Given the description of an element on the screen output the (x, y) to click on. 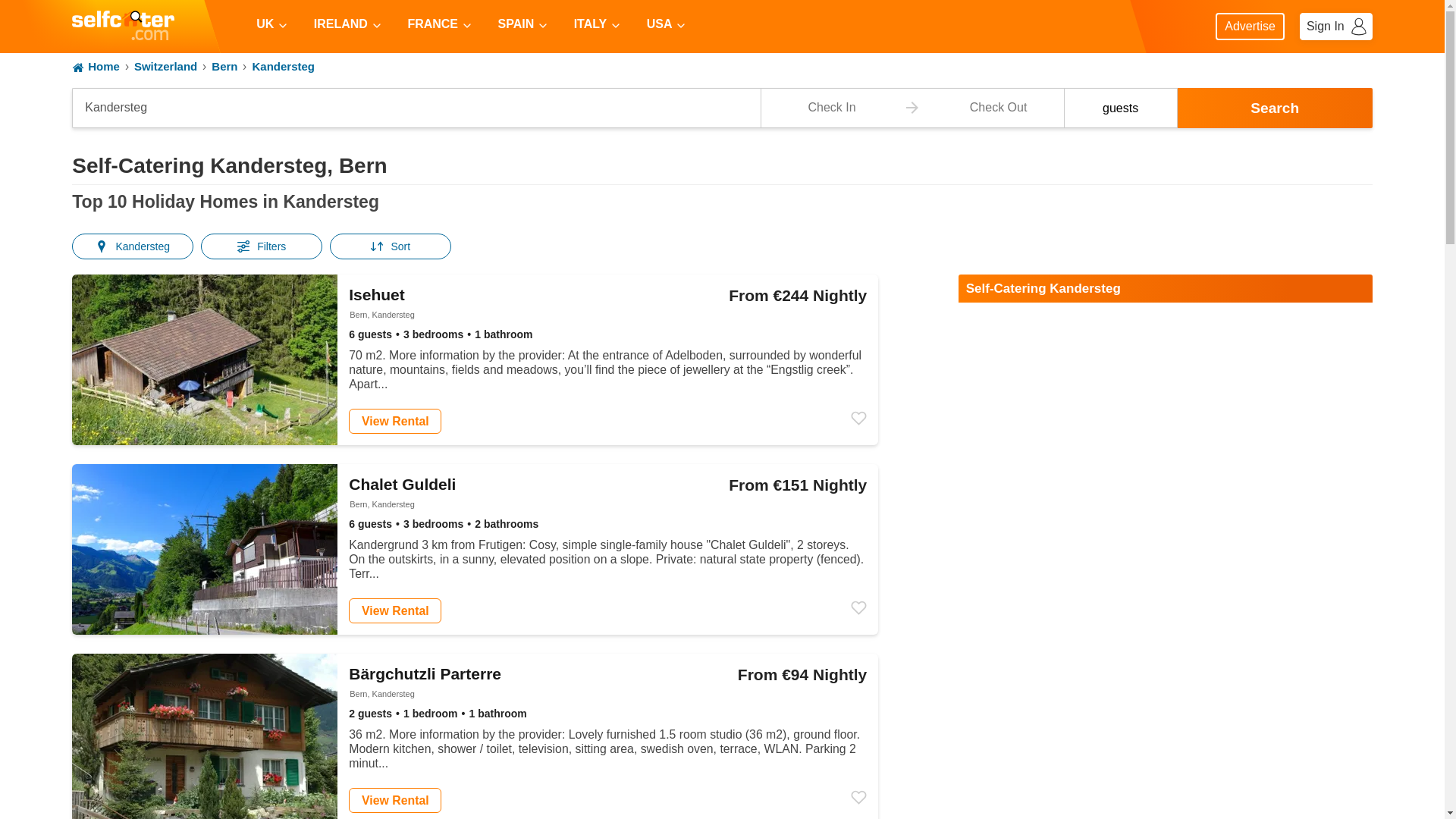
Self Catering Holiday Cottages (722, 66)
Self Catering Holiday Cottages (122, 26)
Kandersteg (122, 25)
Self Catering Holiday Cottages (415, 107)
